Given the description of an element on the screen output the (x, y) to click on. 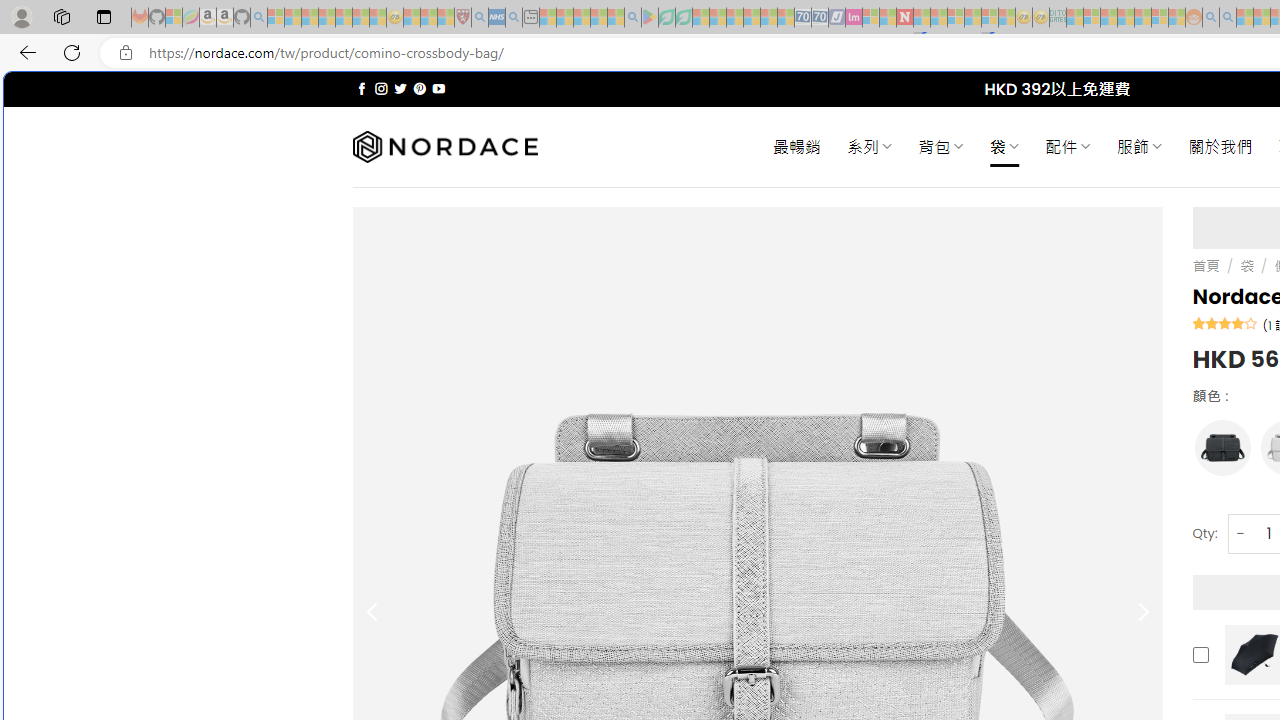
Follow on Pinterest (419, 88)
